Given the description of an element on the screen output the (x, y) to click on. 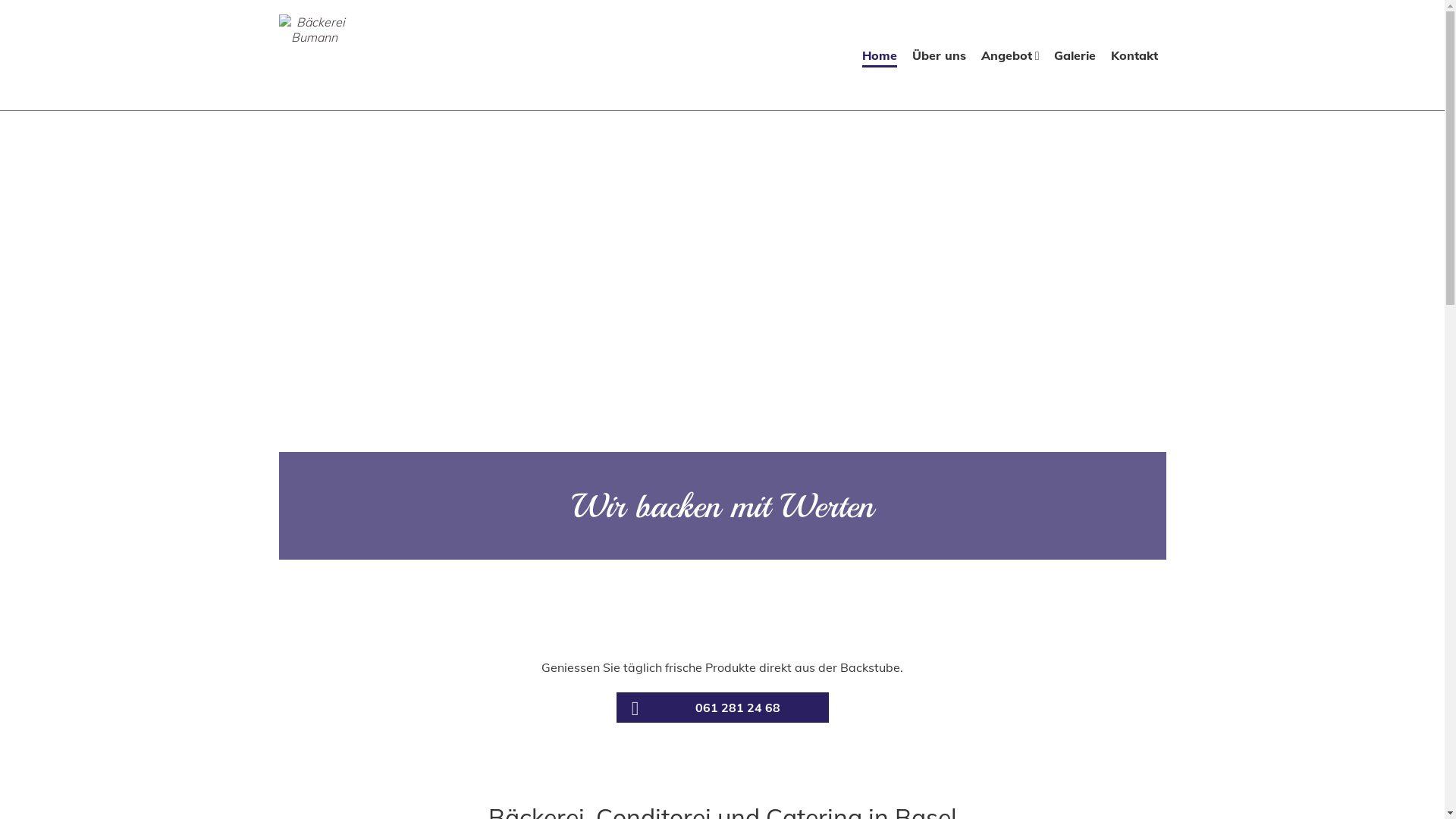
Kontakt Element type: text (1133, 57)
Home Element type: text (879, 57)
061 281 24 68 Element type: text (721, 707)
Angebot Element type: text (1010, 57)
Galerie Element type: text (1074, 57)
